Given the description of an element on the screen output the (x, y) to click on. 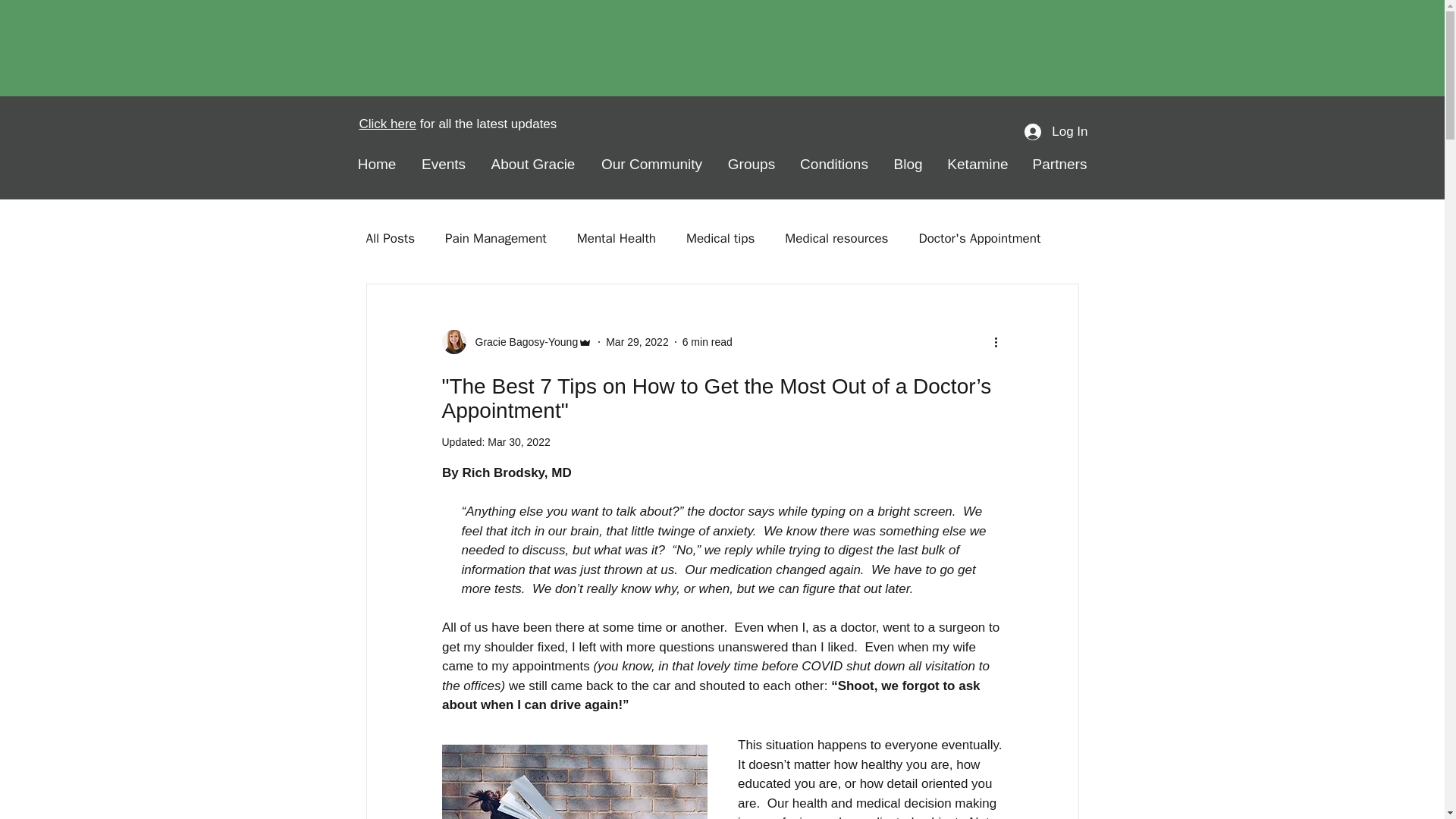
Our Community (652, 163)
Medical tips (719, 237)
Groups (751, 163)
6 min read (707, 340)
Doctor's Appointment (979, 237)
Home (376, 163)
Blog (908, 163)
Medical resources (836, 237)
Pain Management (496, 237)
All Posts (389, 237)
Gracie Bagosy-Young (521, 341)
Conditions (833, 163)
Events (444, 163)
Log In (1055, 131)
Mental Health (616, 237)
